Given the description of an element on the screen output the (x, y) to click on. 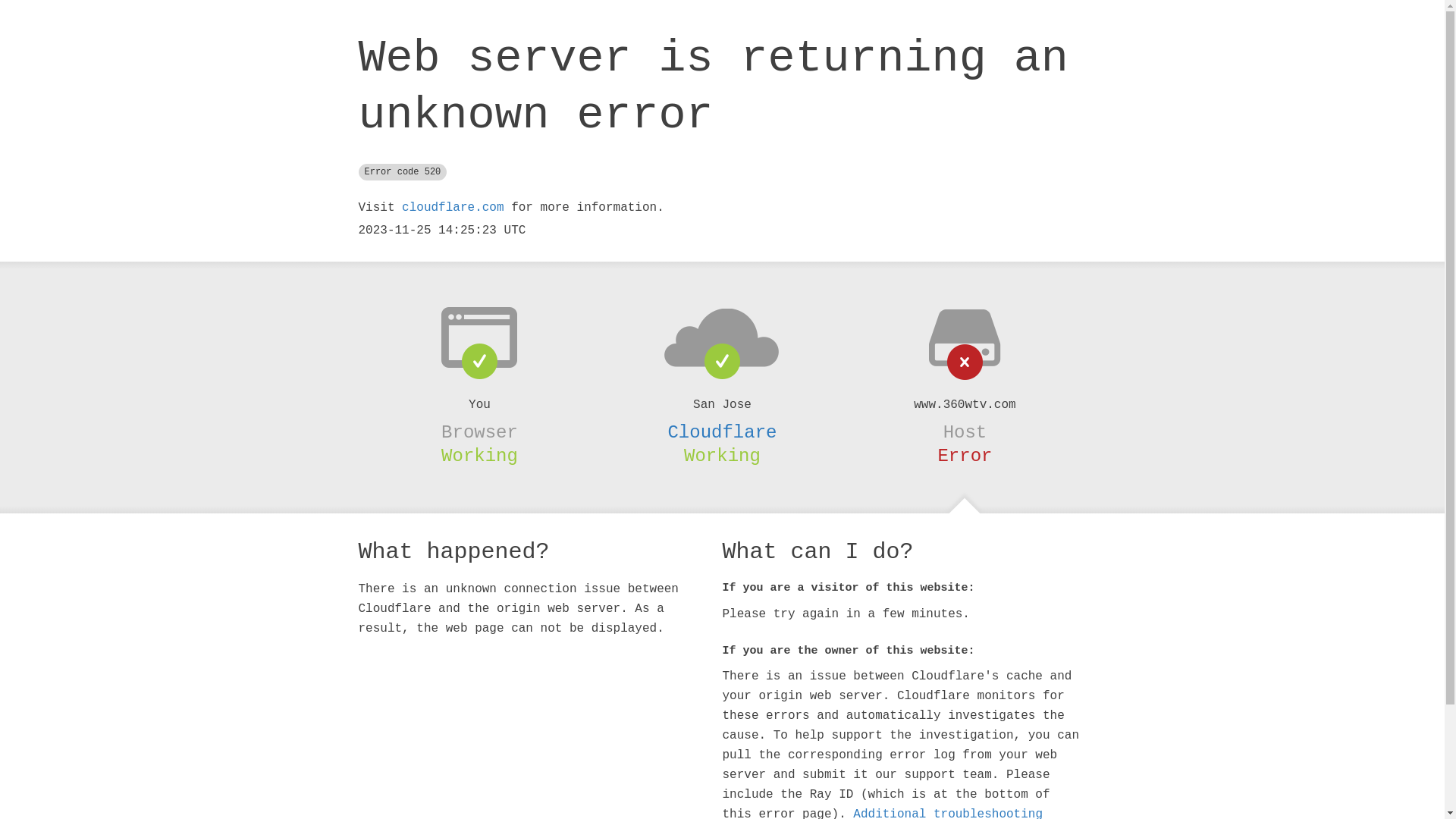
cloudflare.com Element type: text (452, 207)
Cloudflare Element type: text (721, 432)
